Given the description of an element on the screen output the (x, y) to click on. 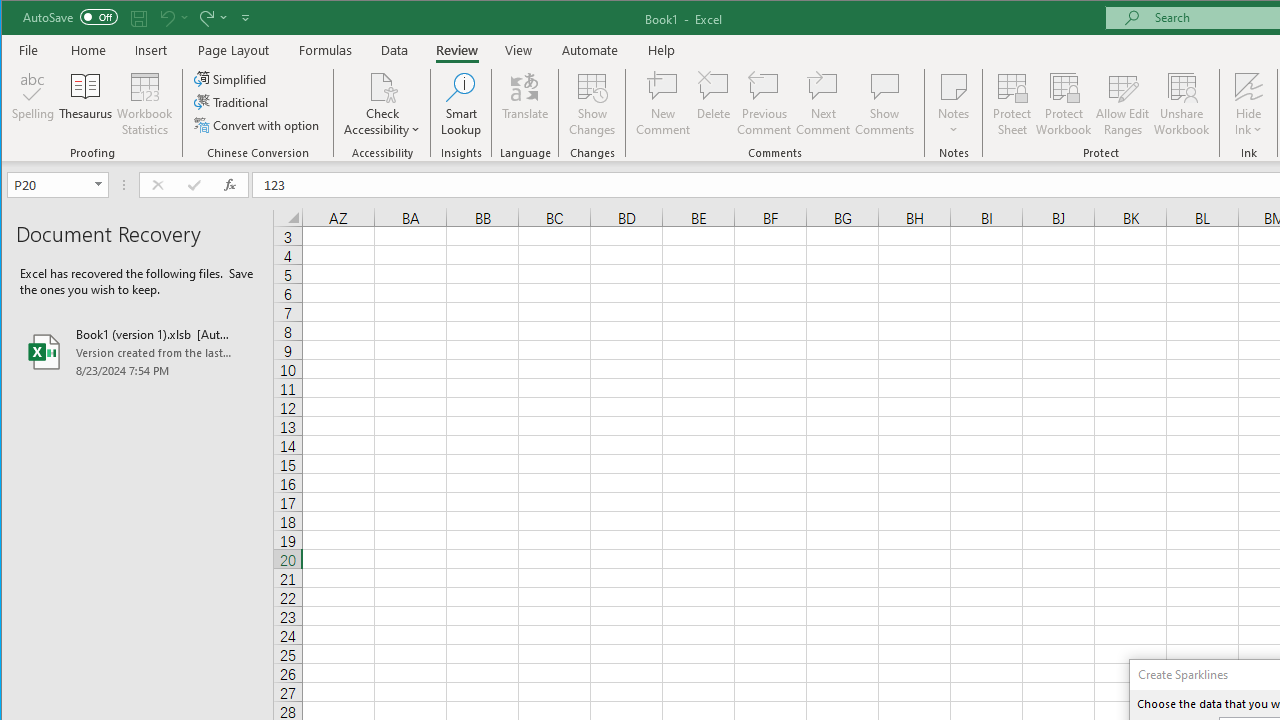
Allow Edit Ranges (1123, 104)
Automate (589, 50)
Notes (954, 104)
Help (661, 50)
Unshare Workbook (1182, 104)
Insert (151, 50)
Convert with option (258, 124)
Traditional (232, 101)
Previous Comment (763, 104)
Home (88, 50)
